Given the description of an element on the screen output the (x, y) to click on. 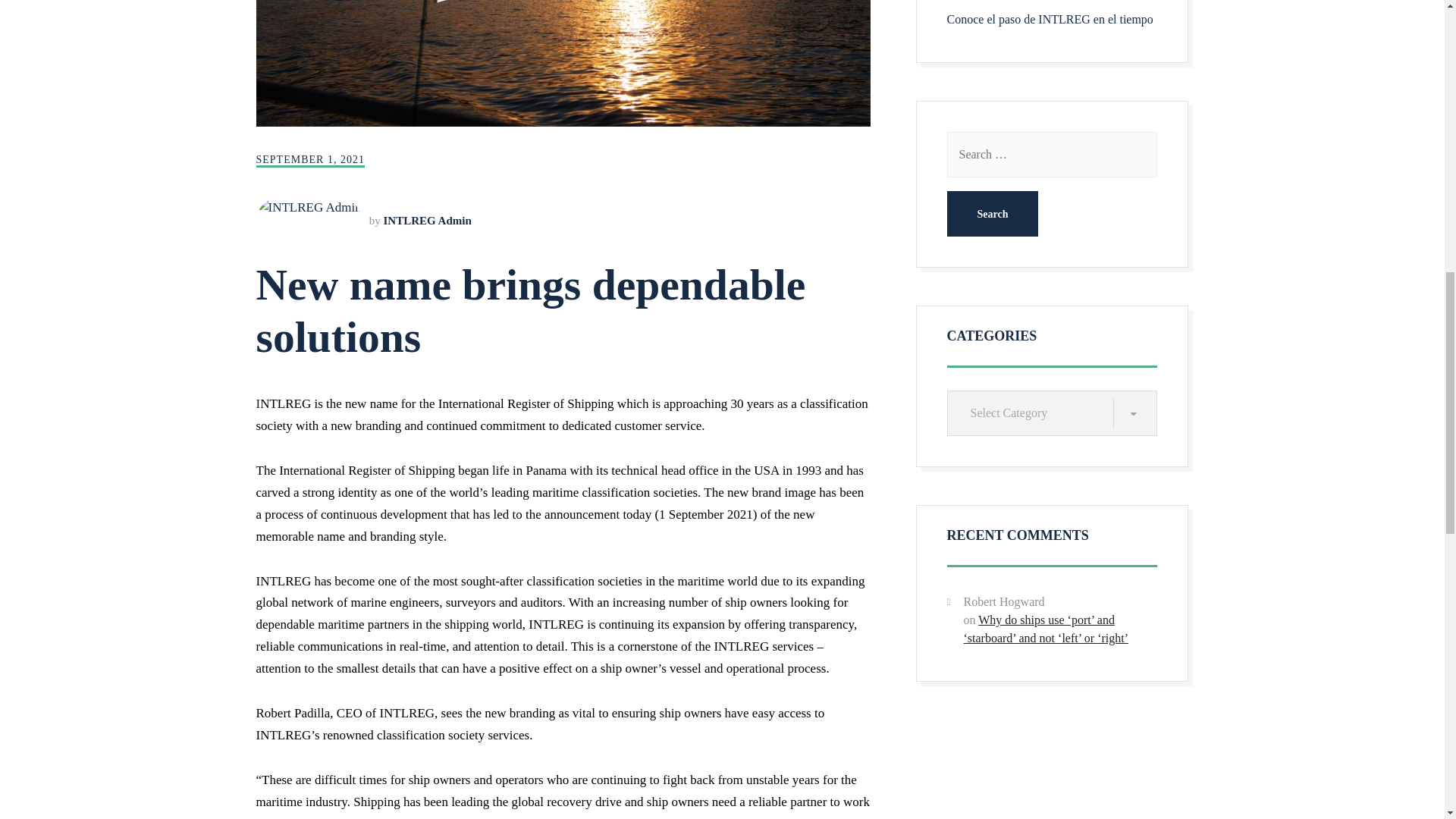
Search (992, 213)
Search (992, 213)
